Given the description of an element on the screen output the (x, y) to click on. 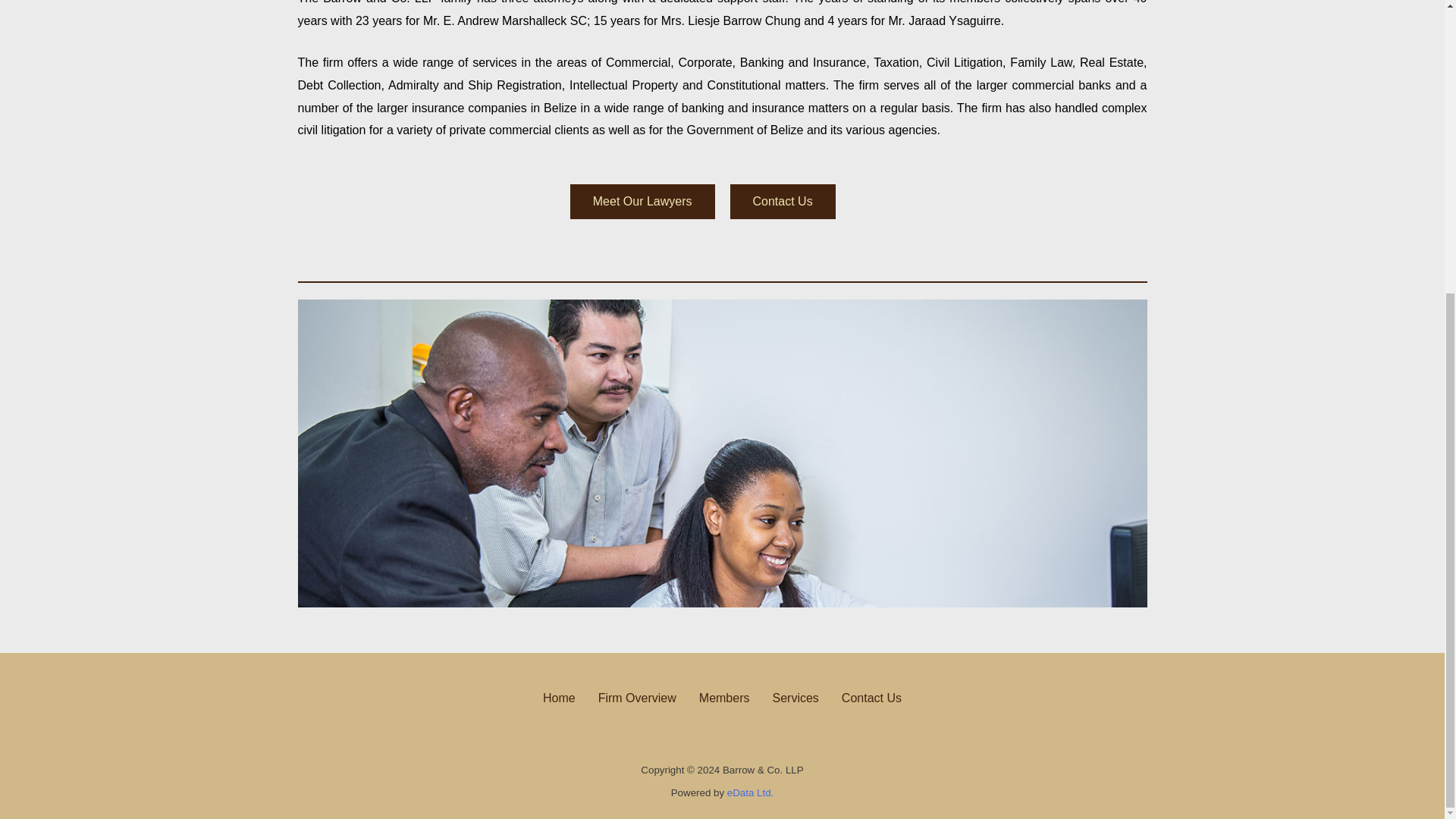
Contact Us (870, 698)
Firm Overview (636, 698)
Members (724, 698)
Meet Our Lawyers (642, 201)
Home (558, 698)
eData Ltd. (748, 792)
Services (794, 698)
Contact Us (781, 201)
